Given the description of an element on the screen output the (x, y) to click on. 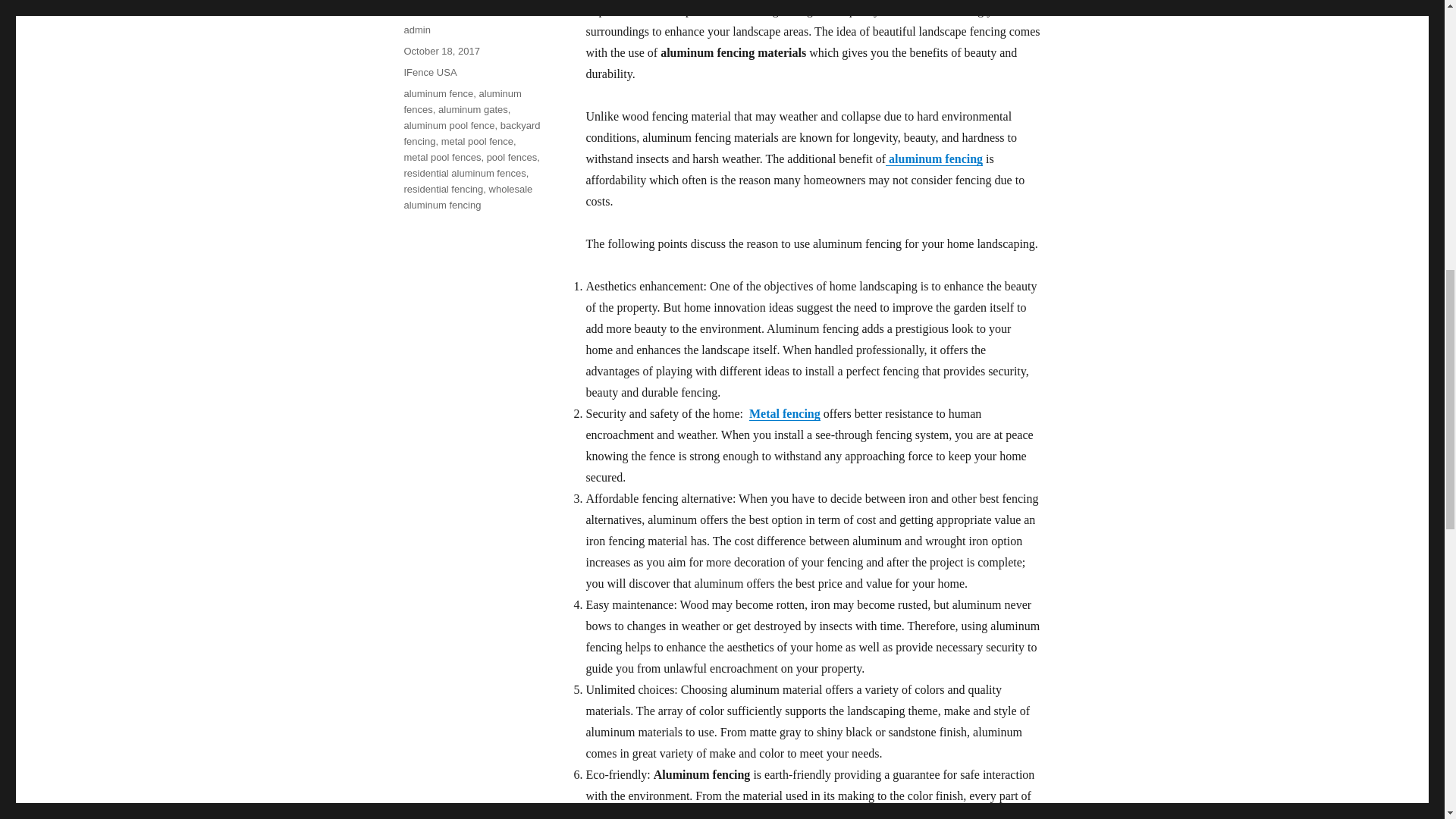
IFence USA (430, 71)
admin (416, 30)
pool fences (511, 156)
aluminum fence (438, 93)
aluminum pool fence (449, 125)
residential fencing (443, 188)
backyard fencing (471, 133)
wholesale aluminum fencing (467, 196)
Metal fencing (785, 413)
residential aluminum fences (464, 173)
